Given the description of an element on the screen output the (x, y) to click on. 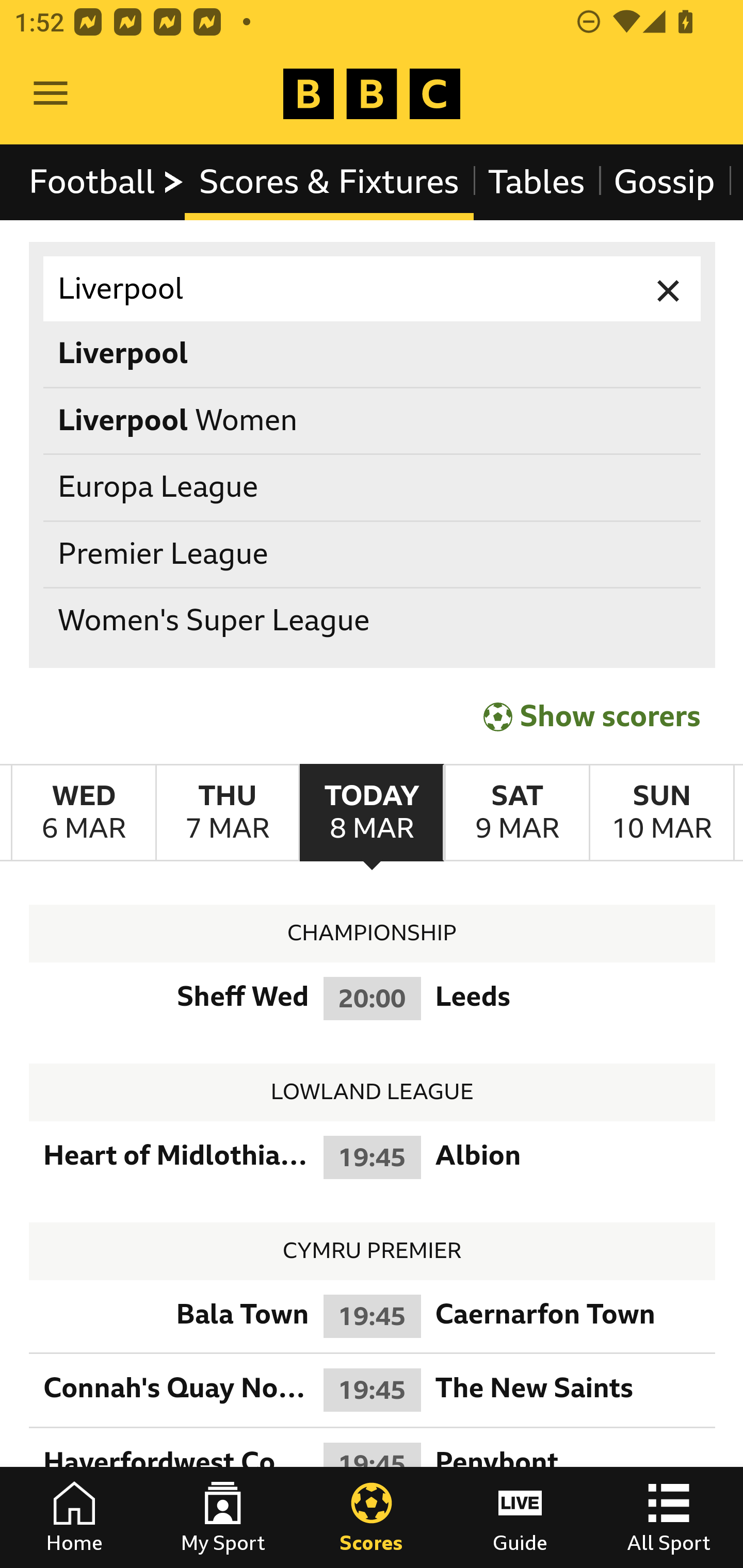
Open Menu (50, 93)
Football  (106, 181)
Scores & Fixtures (329, 181)
Tables (536, 181)
Gossip (664, 181)
Liverpool (372, 289)
Clear input (669, 289)
Liverpool Women Liverpool  Women (372, 419)
Europa League (372, 488)
Premier League (372, 554)
Women's Super League (372, 620)
Show scorers (591, 716)
WednesdayMarch 6th Wednesday March 6th (83, 812)
ThursdayMarch 7th Thursday March 7th (227, 812)
SaturdayMarch 9th Saturday March 9th (516, 812)
SundayMarch 10th Sunday March 10th (661, 812)
Home (74, 1517)
My Sport (222, 1517)
Guide (519, 1517)
All Sport (668, 1517)
